Given the description of an element on the screen output the (x, y) to click on. 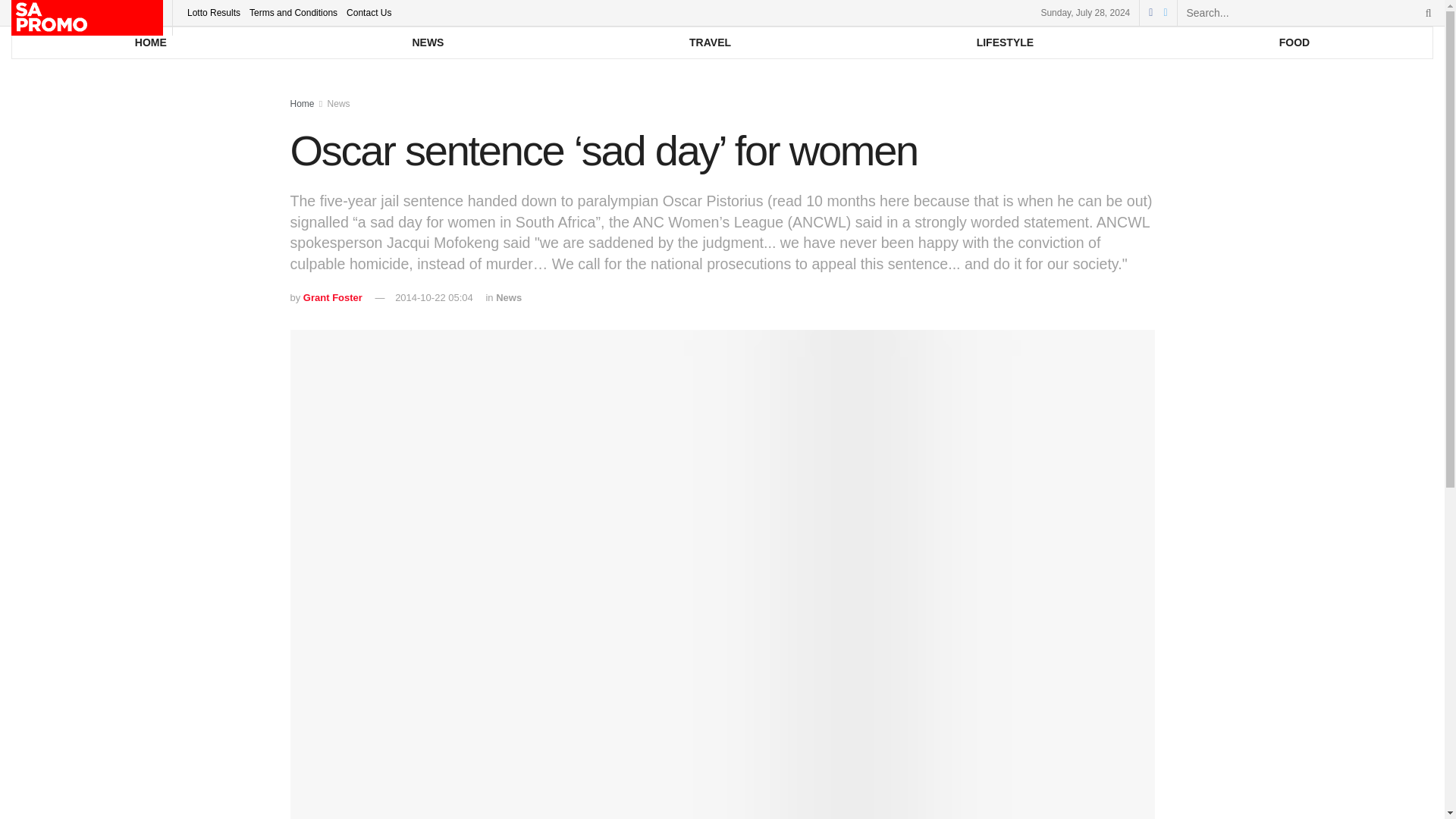
FOOD (1294, 42)
Terms and Conditions (292, 12)
Lotto Results (213, 12)
LIFESTYLE (1004, 42)
NEWS (428, 42)
Contact Us (368, 12)
TRAVEL (709, 42)
HOME (150, 42)
